Given the description of an element on the screen output the (x, y) to click on. 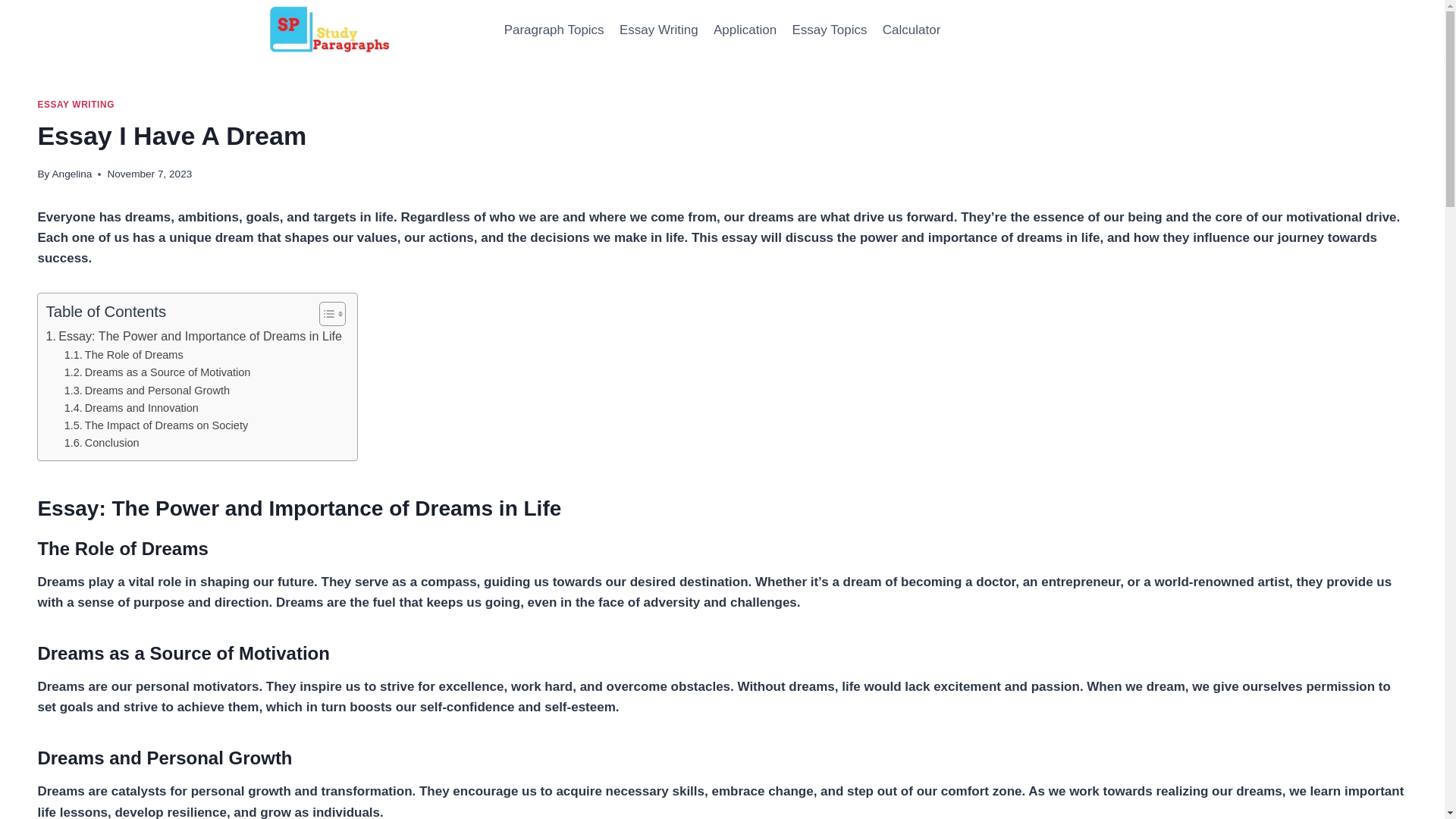
The Impact of Dreams on Society (156, 425)
Dreams and Personal Growth (147, 390)
Paragraph Topics (553, 30)
Essay Writing (658, 30)
Dreams and Innovation (131, 407)
The Role of Dreams (123, 354)
ESSAY WRITING (76, 104)
Angelina (70, 173)
Application (745, 30)
Essay: The Power and Importance of Dreams in Life (193, 336)
